Given the description of an element on the screen output the (x, y) to click on. 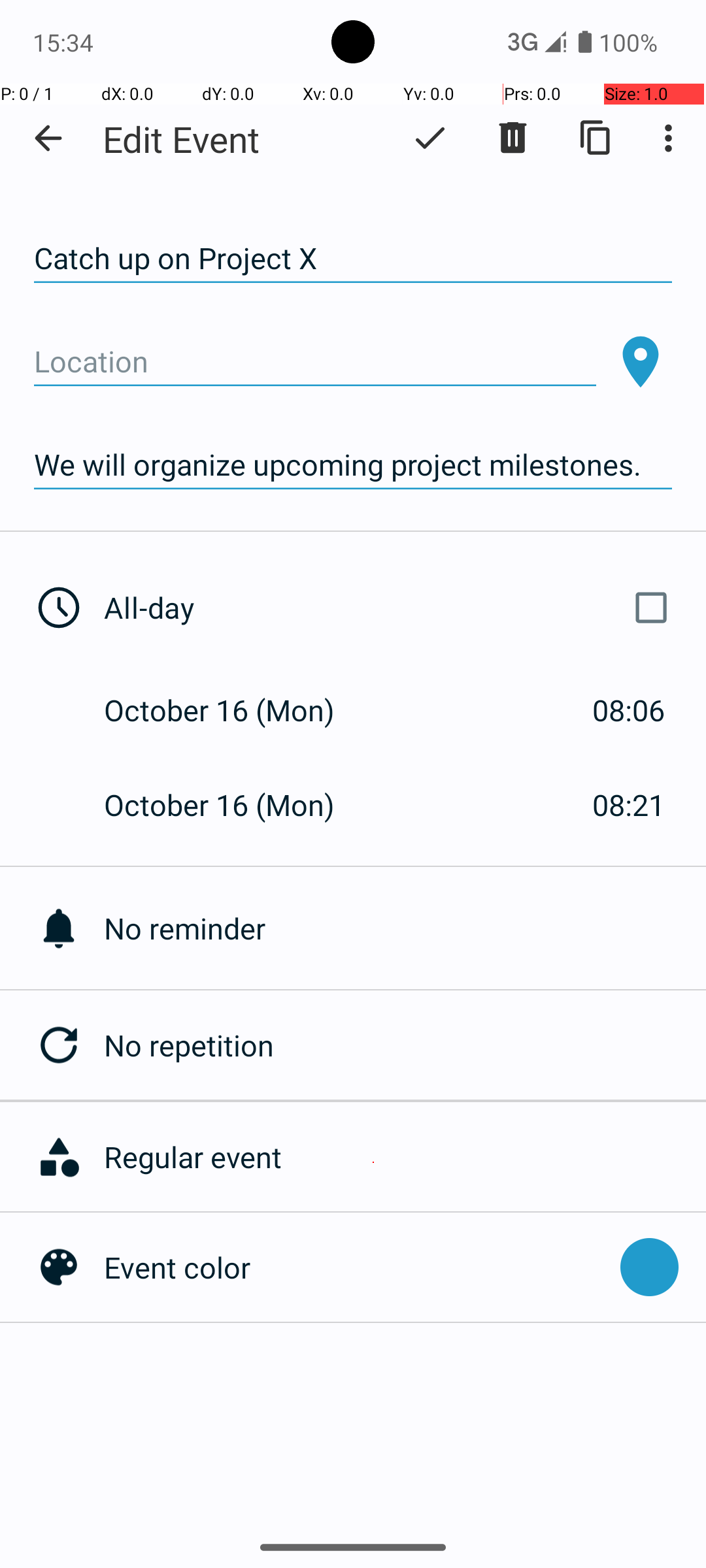
Catch up on Project X Element type: android.widget.EditText (352, 258)
We will organize upcoming project milestones. Element type: android.widget.EditText (352, 465)
October 16 (Mon) Element type: android.widget.TextView (232, 709)
08:06 Element type: android.widget.TextView (628, 709)
08:21 Element type: android.widget.TextView (628, 804)
